Given the description of an element on the screen output the (x, y) to click on. 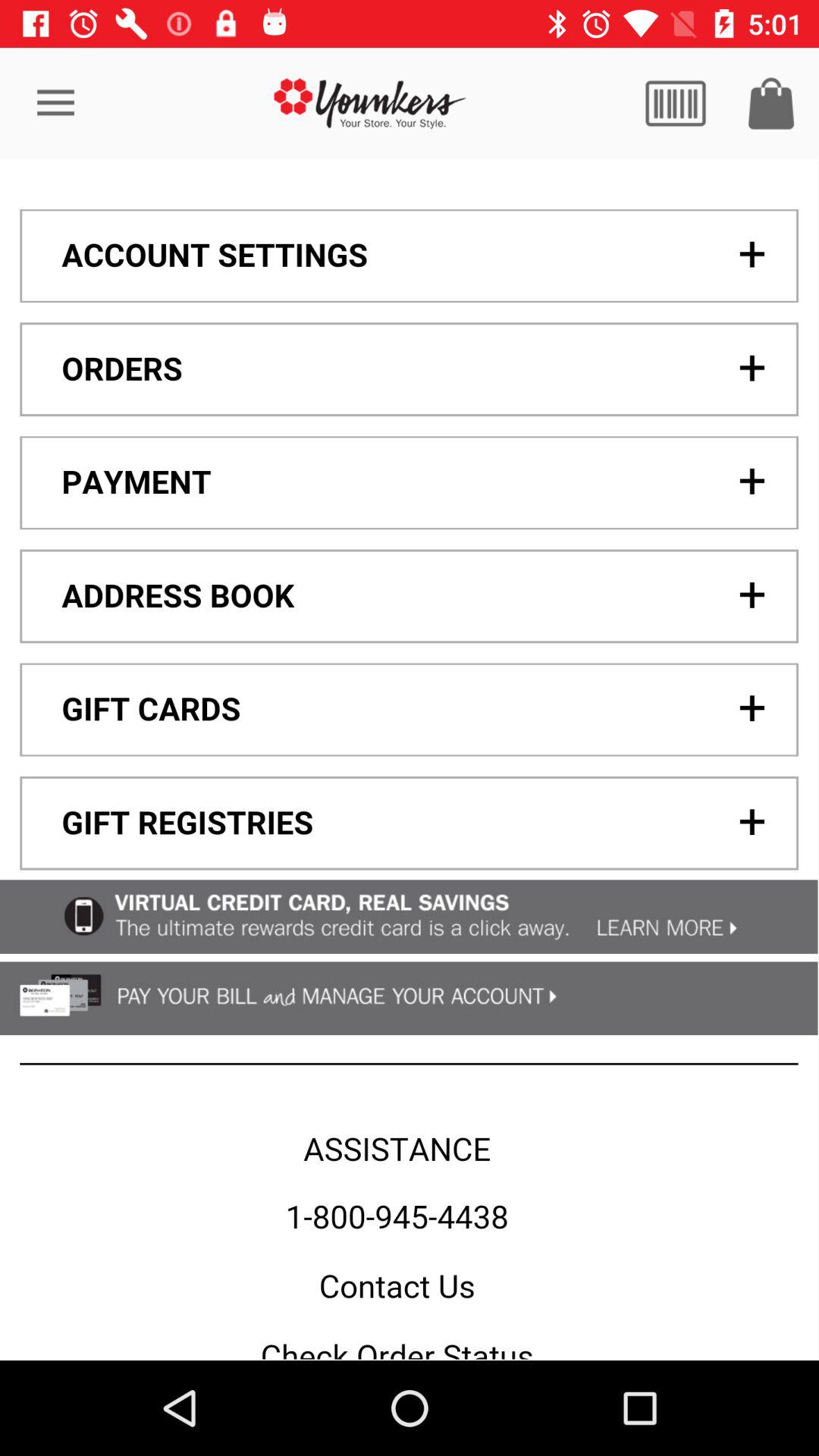
younkers (369, 103)
